Given the description of an element on the screen output the (x, y) to click on. 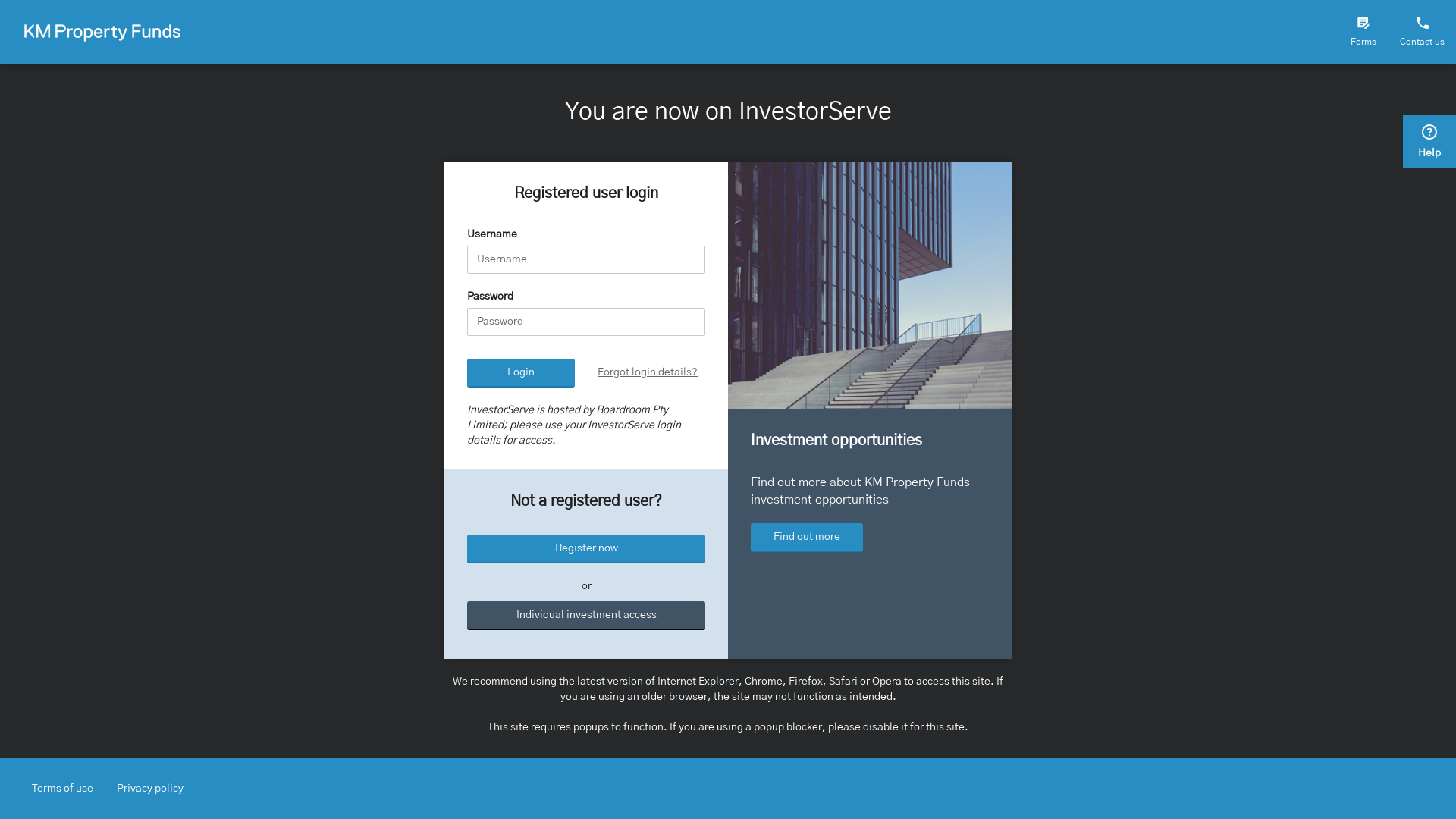
Find out more Element type: text (806, 537)
validate Element type: text (546, 515)
Forgot login details? Element type: text (647, 372)
Forms Element type: text (1363, 32)
Privacy policy Element type: text (149, 788)
Terms of use Element type: text (62, 788)
Individual investment access Element type: text (586, 615)
Login Element type: text (520, 372)
Help Element type: text (1429, 141)
Register now Element type: text (586, 548)
